Given the description of an element on the screen output the (x, y) to click on. 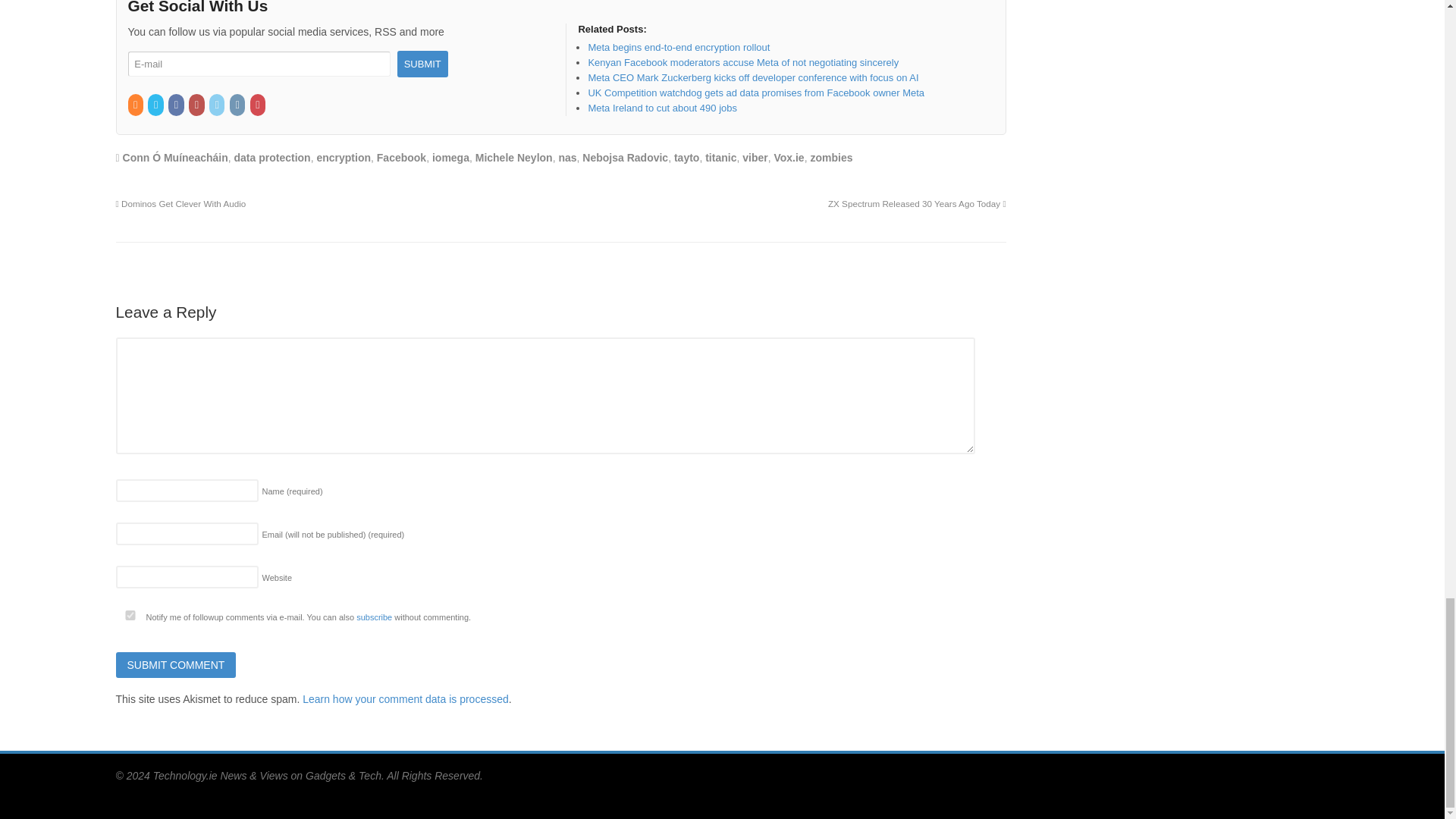
Instagram (238, 104)
E-mail (259, 63)
Twitter (156, 104)
Submit Comment (175, 664)
Facebook (177, 104)
Submit (422, 63)
YouTube (197, 104)
RSS (136, 104)
LinkedIn (218, 104)
yes (129, 614)
